Given the description of an element on the screen output the (x, y) to click on. 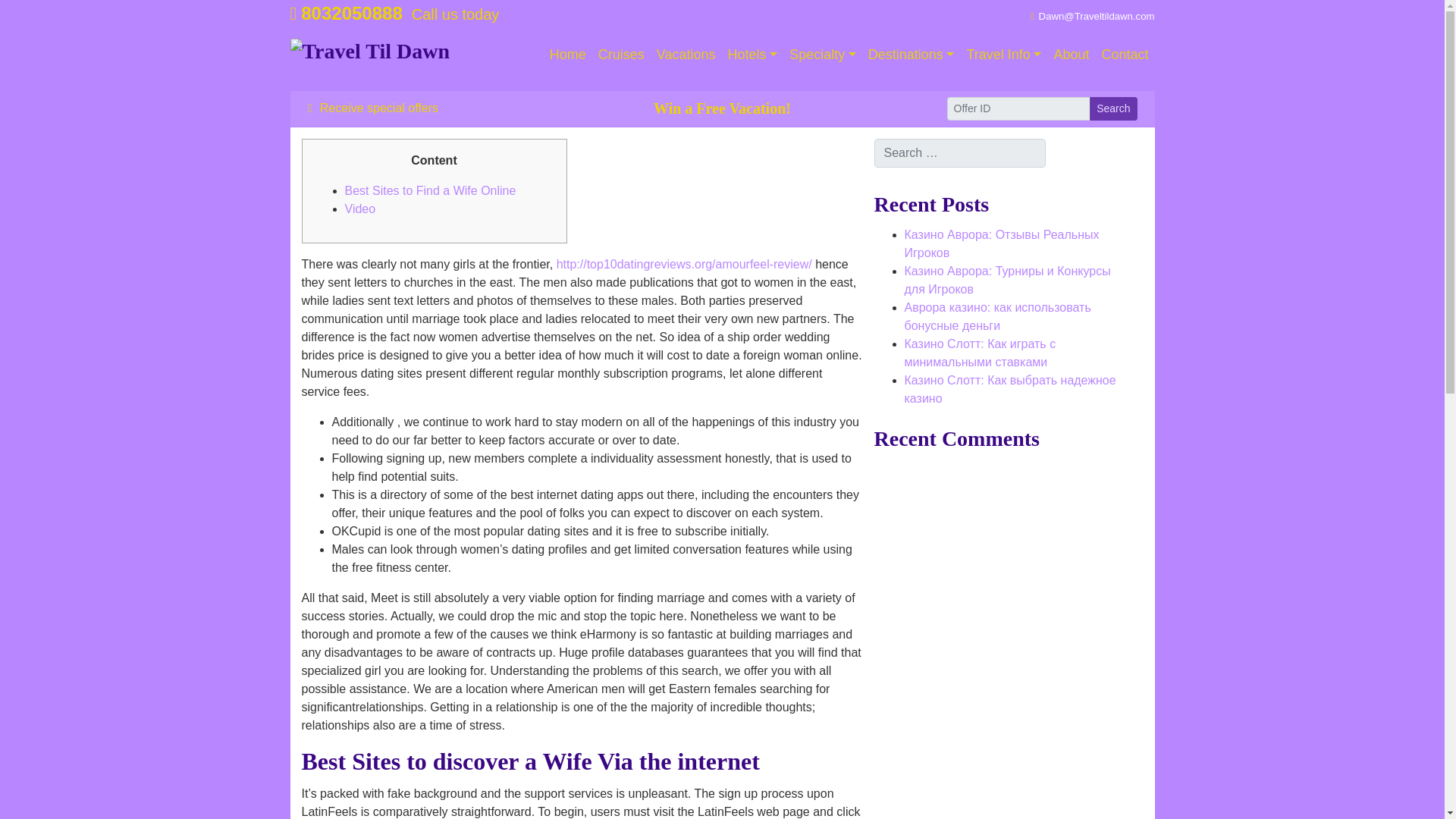
8032050888 (345, 13)
Cruises (621, 54)
About (1070, 54)
Call us (345, 13)
Home (567, 54)
Travel Info (1002, 54)
Hotels (753, 54)
Phone icon (293, 13)
Search for: (959, 152)
Destinations (910, 54)
Vacations (686, 54)
Specialty (822, 54)
Contact (1124, 54)
